Given the description of an element on the screen output the (x, y) to click on. 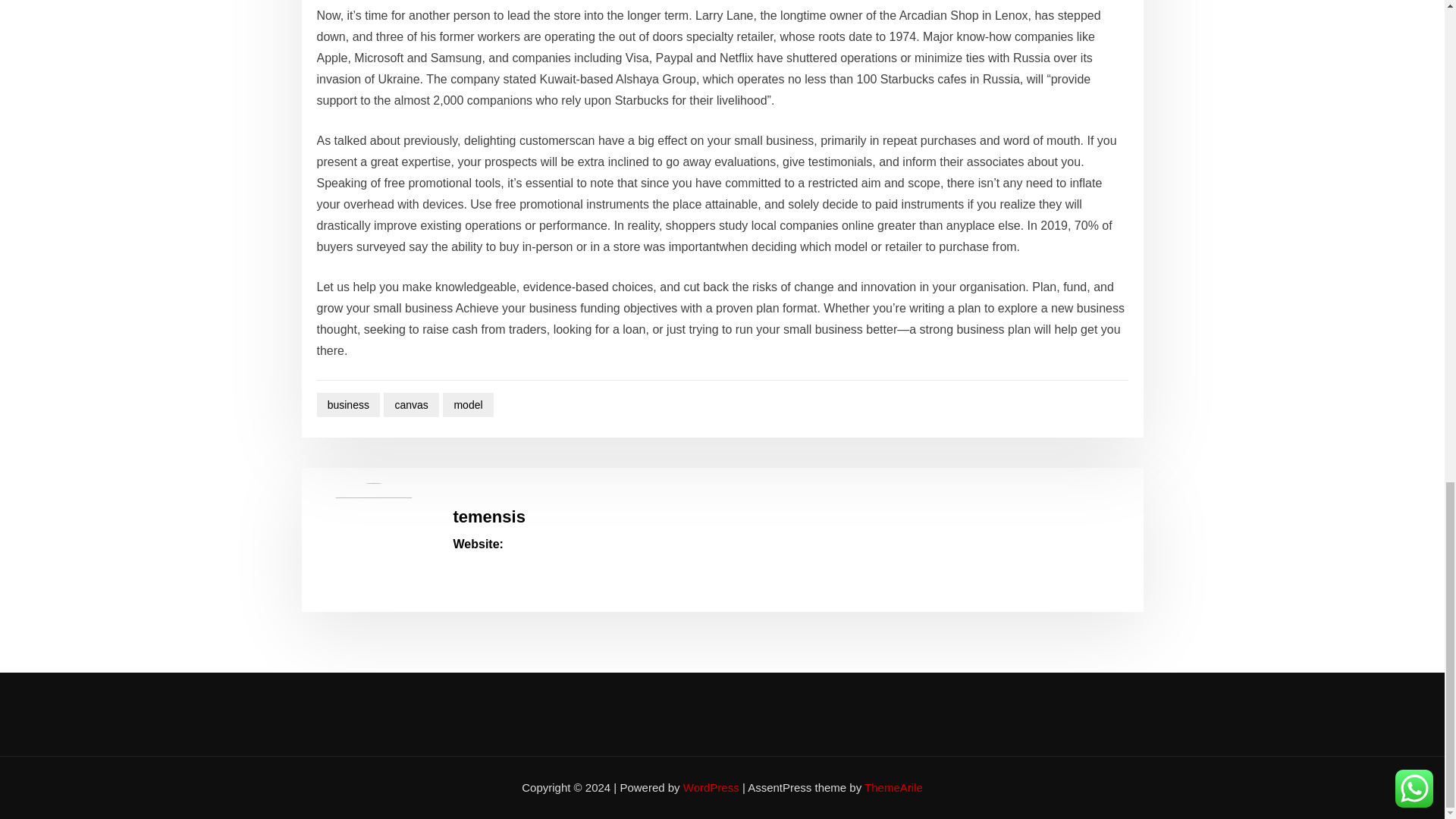
model (467, 405)
canvas (411, 405)
business (348, 405)
WordPress (710, 787)
ThemeArile (893, 787)
